Given the description of an element on the screen output the (x, y) to click on. 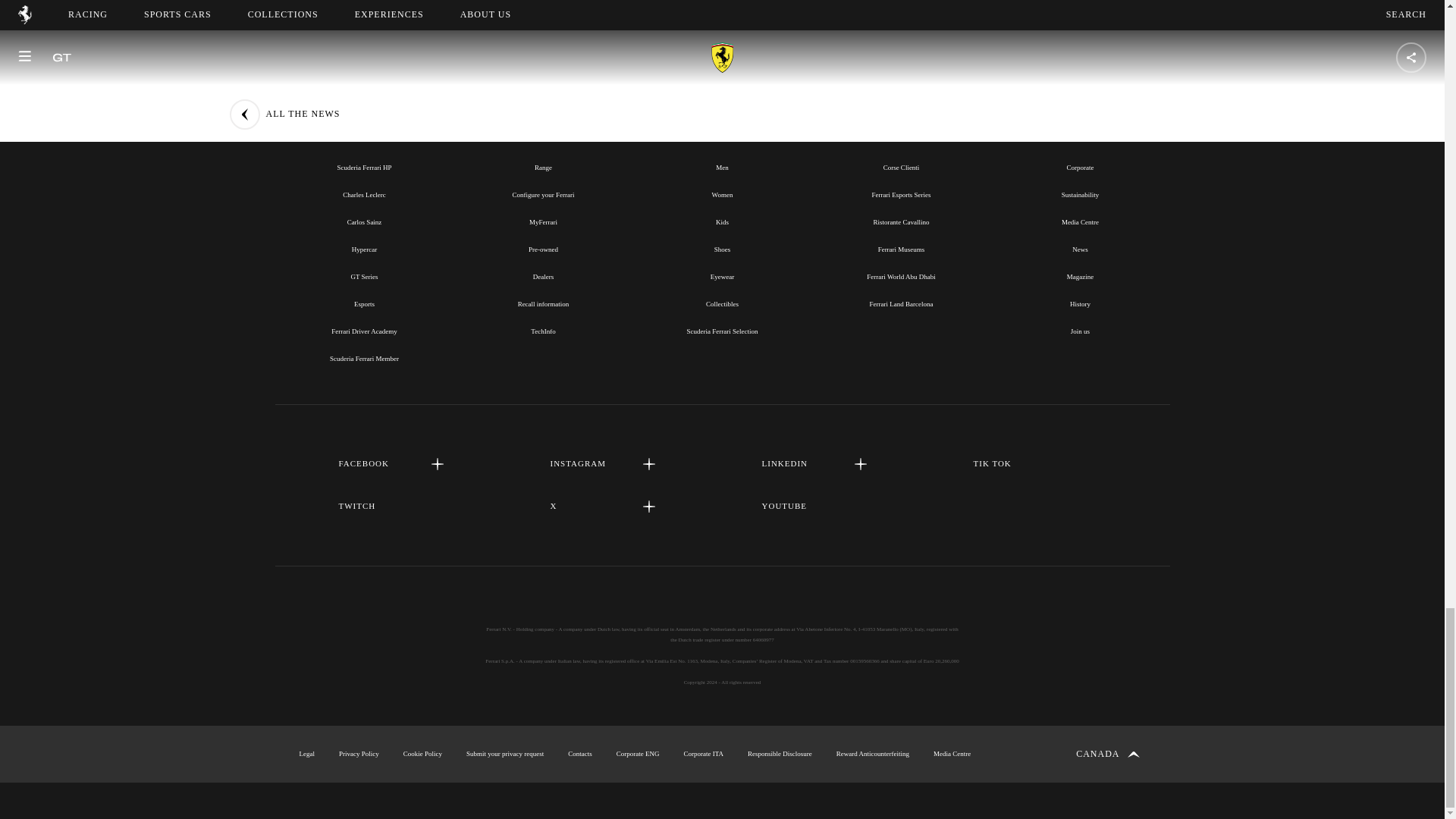
Scuderia Ferrari Member (364, 358)
Configure your Ferrari (543, 194)
Ferrari Driver Academy (363, 330)
Charles Leclerc (363, 194)
RACING (363, 133)
SUBSCRIBE (721, 7)
Scuderia Ferrari HP (363, 167)
Hypercar (364, 249)
Change country (1106, 753)
MyFerrari (543, 222)
Range (542, 167)
Esports (363, 303)
SPORTS CARS (542, 133)
GT Series (363, 276)
Carlos Sainz (364, 222)
